Given the description of an element on the screen output the (x, y) to click on. 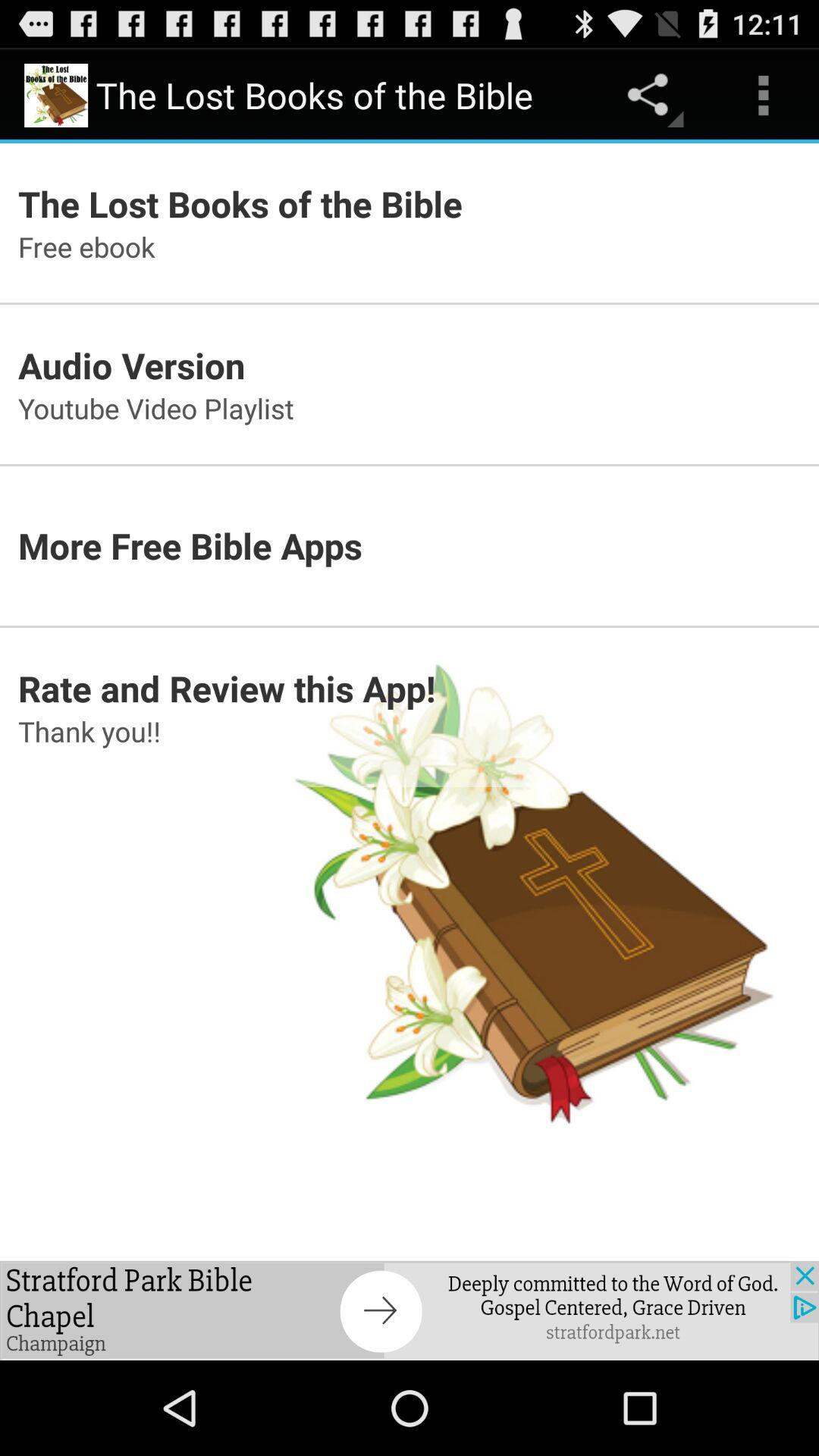
pop up advertisement (409, 1310)
